Given the description of an element on the screen output the (x, y) to click on. 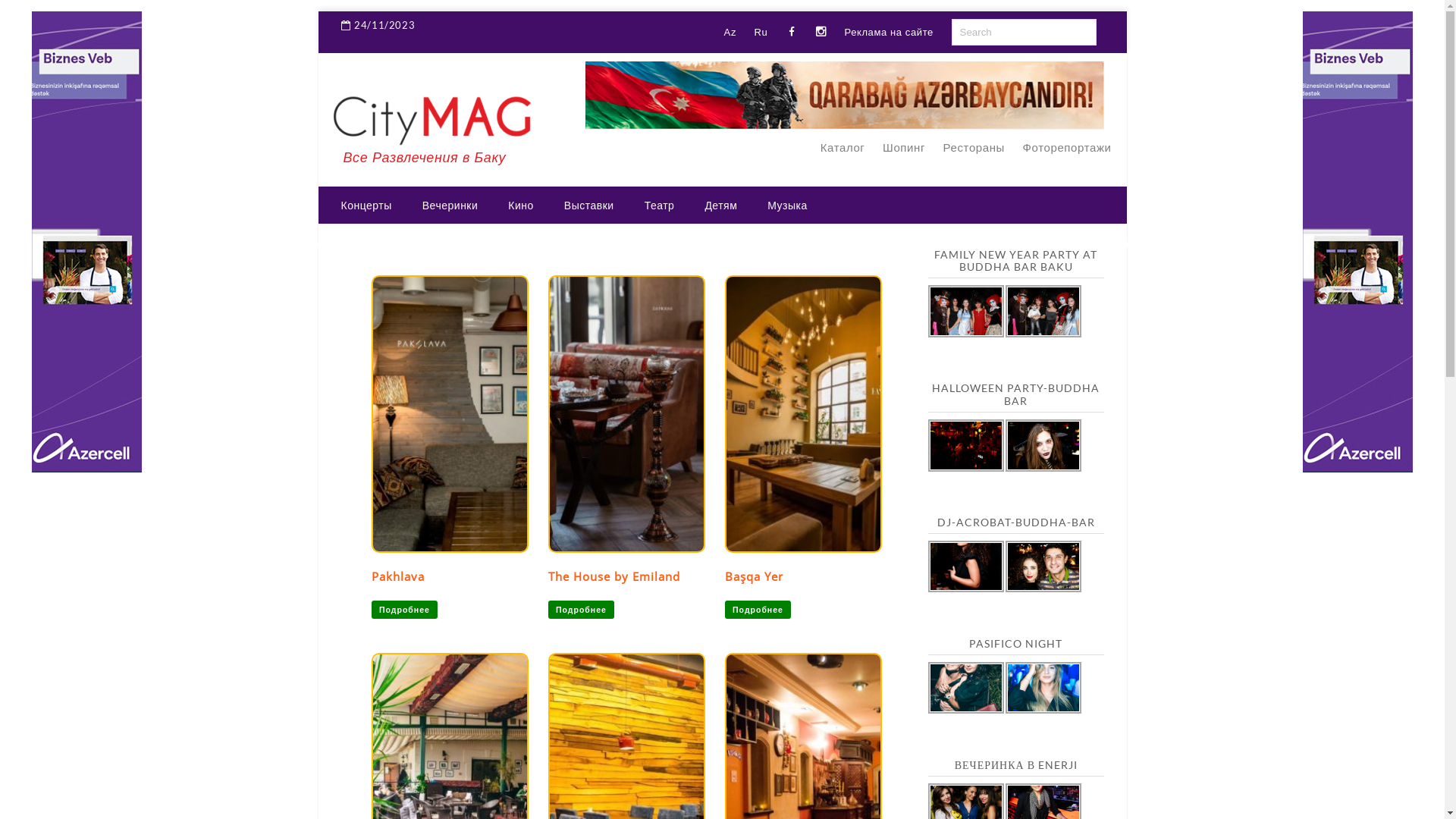
The House by Emiland Element type: hover (626, 413)
Facebook Element type: text (791, 31)
Search Element type: text (37, 13)
PASIFICO NIGHT Element type: text (1015, 644)
40353199_1790488207735042_9134687065340903424_n Element type: hover (1043, 688)
IMG_6810 Element type: hover (966, 311)
HALLOWEEN PARTY-BUDDHA BAR Element type: text (1015, 395)
45282912_2212294369046528_2924667012527423488_n Element type: hover (966, 445)
42512652_2176749359267696_1916413054560501760_n Element type: hover (966, 566)
Instagram Element type: text (820, 31)
FAMILY NEW YEAR PARTY AT BUDDHA BAR BAKU Element type: text (1015, 261)
DJ-ACROBAT-BUDDHA-BAR Element type: text (1015, 522)
Pakhlava Element type: hover (449, 413)
42500413_2176750869267545_7454092419982688256_n Element type: hover (1043, 566)
45268079_2212297615712870_2102434852723752960_n Element type: hover (1043, 445)
40361923_1790487304401799_1346079524076388352_n Element type: hover (966, 688)
Ru Element type: text (761, 31)
Az Element type: text (730, 31)
IMG_6807 Element type: hover (1043, 311)
